Given the description of an element on the screen output the (x, y) to click on. 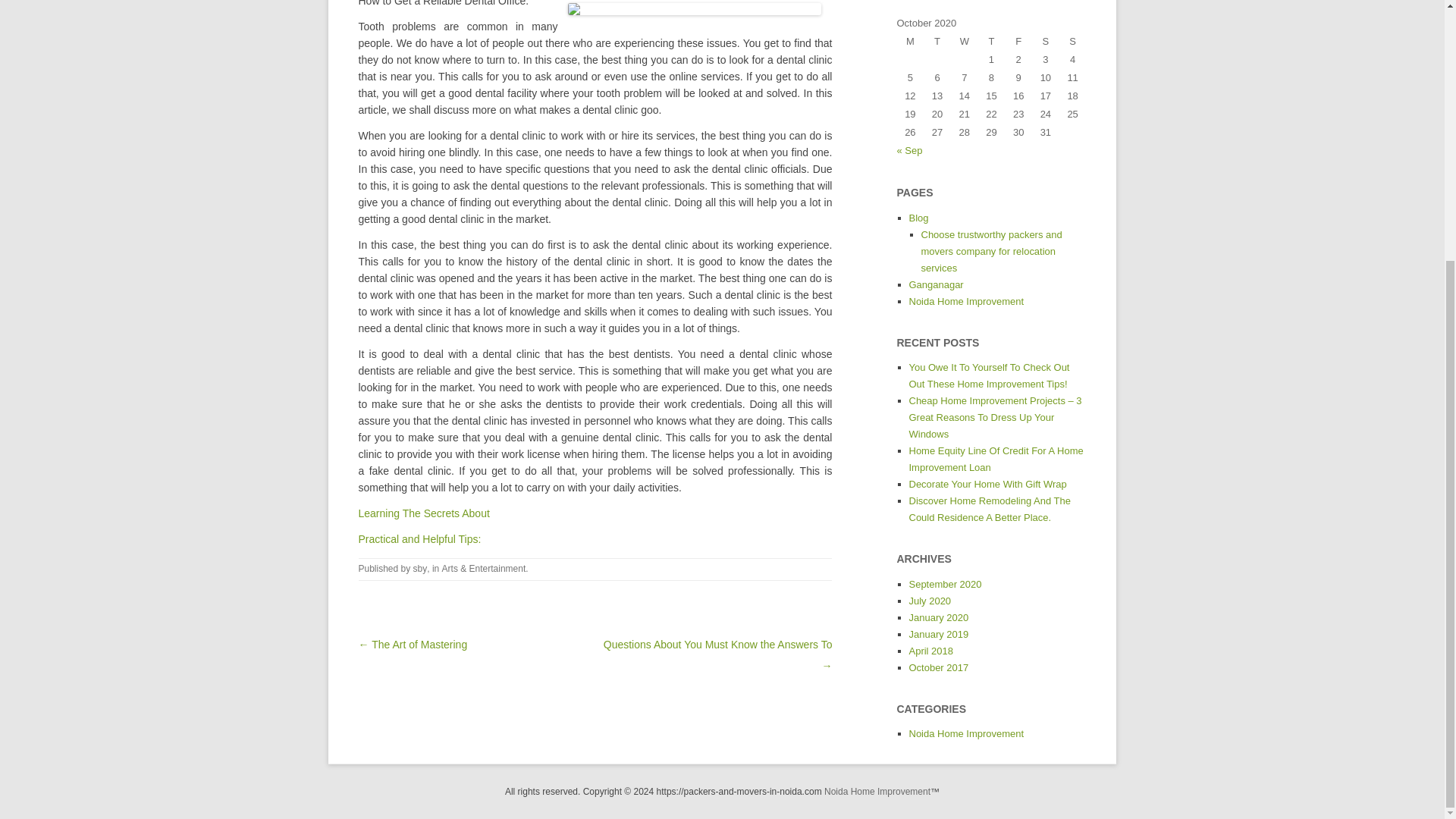
Noida Home Improvement (965, 301)
October 2017 (938, 667)
Tuesday (936, 41)
Learning The Secrets About (423, 512)
Friday (1018, 41)
Noida Home Improvement (877, 791)
Ganganagar (935, 284)
Practical and Helpful Tips: (419, 539)
Wednesday (964, 41)
